Given the description of an element on the screen output the (x, y) to click on. 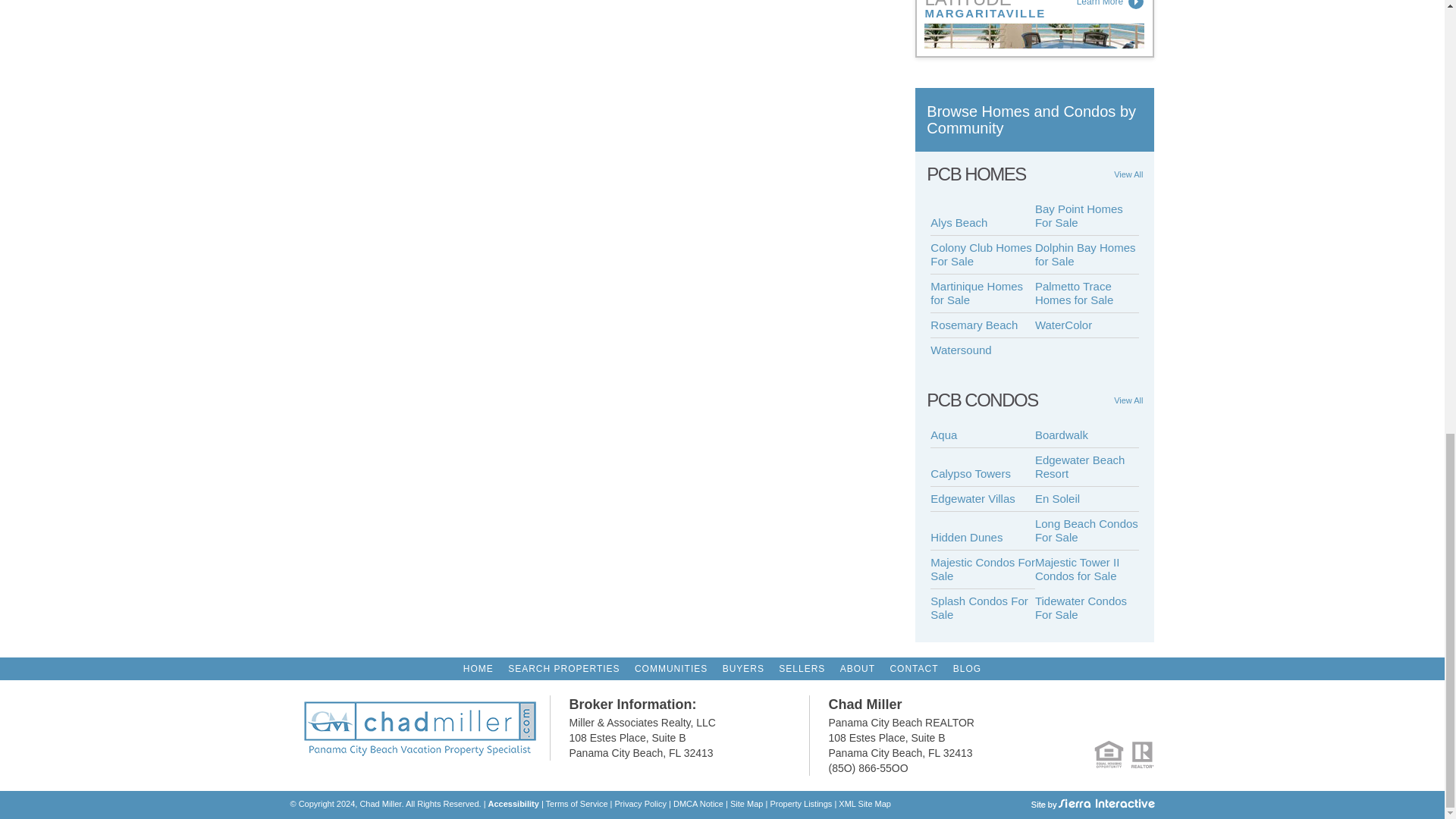
View Alys Beach (982, 222)
View Rosemary Beach (982, 325)
View Aqua (982, 435)
View WaterColor (1087, 325)
View Edgewater Villas (982, 498)
View Calypso Towers (982, 473)
View Palmetto Trace Homes for Sale (1087, 293)
View Bay Point Homes For Sale (1087, 216)
View Boardwalk (1087, 435)
View En Soleil (1087, 498)
